Given the description of an element on the screen output the (x, y) to click on. 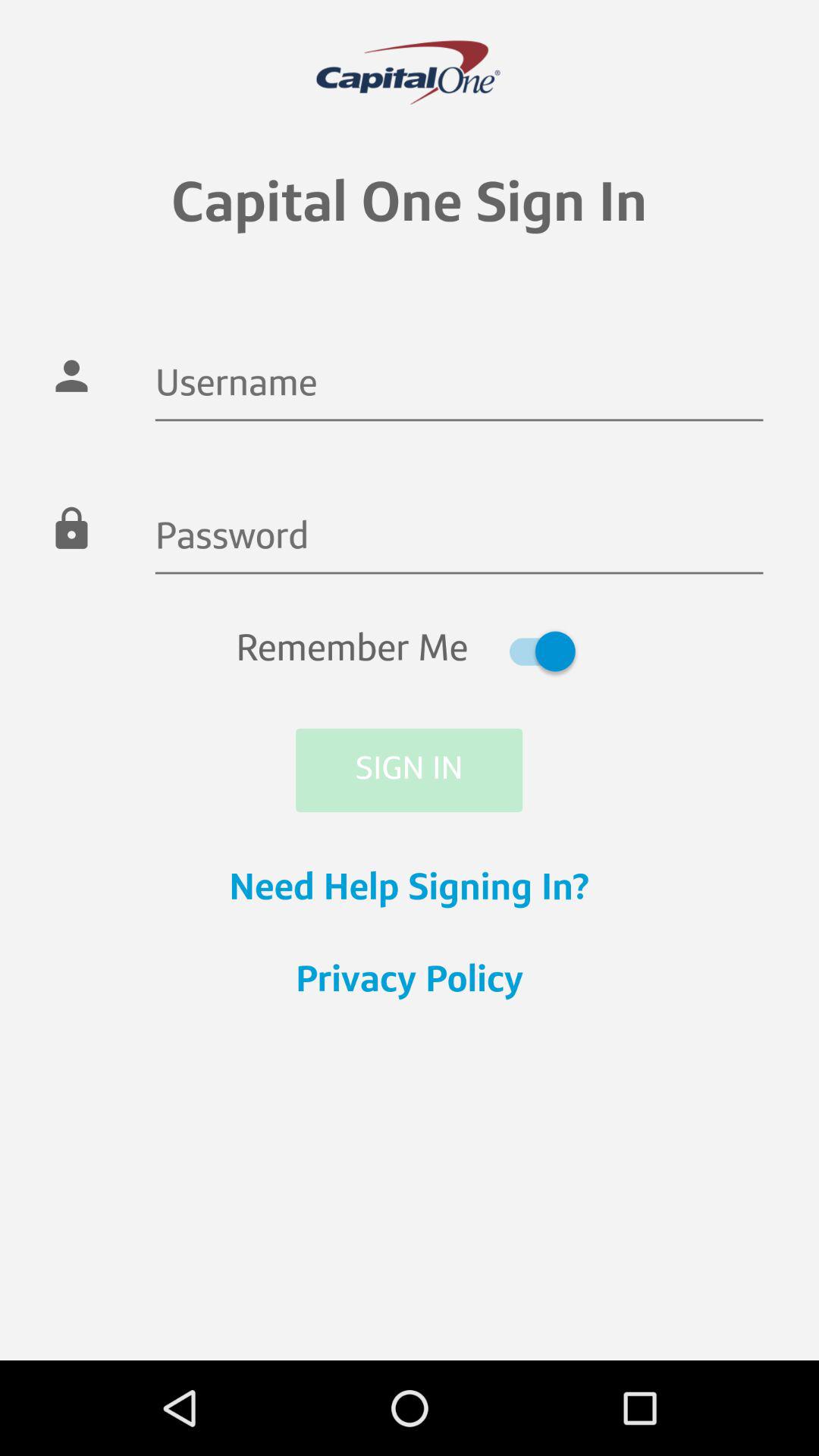
open item above the privacy policy item (409, 889)
